Given the description of an element on the screen output the (x, y) to click on. 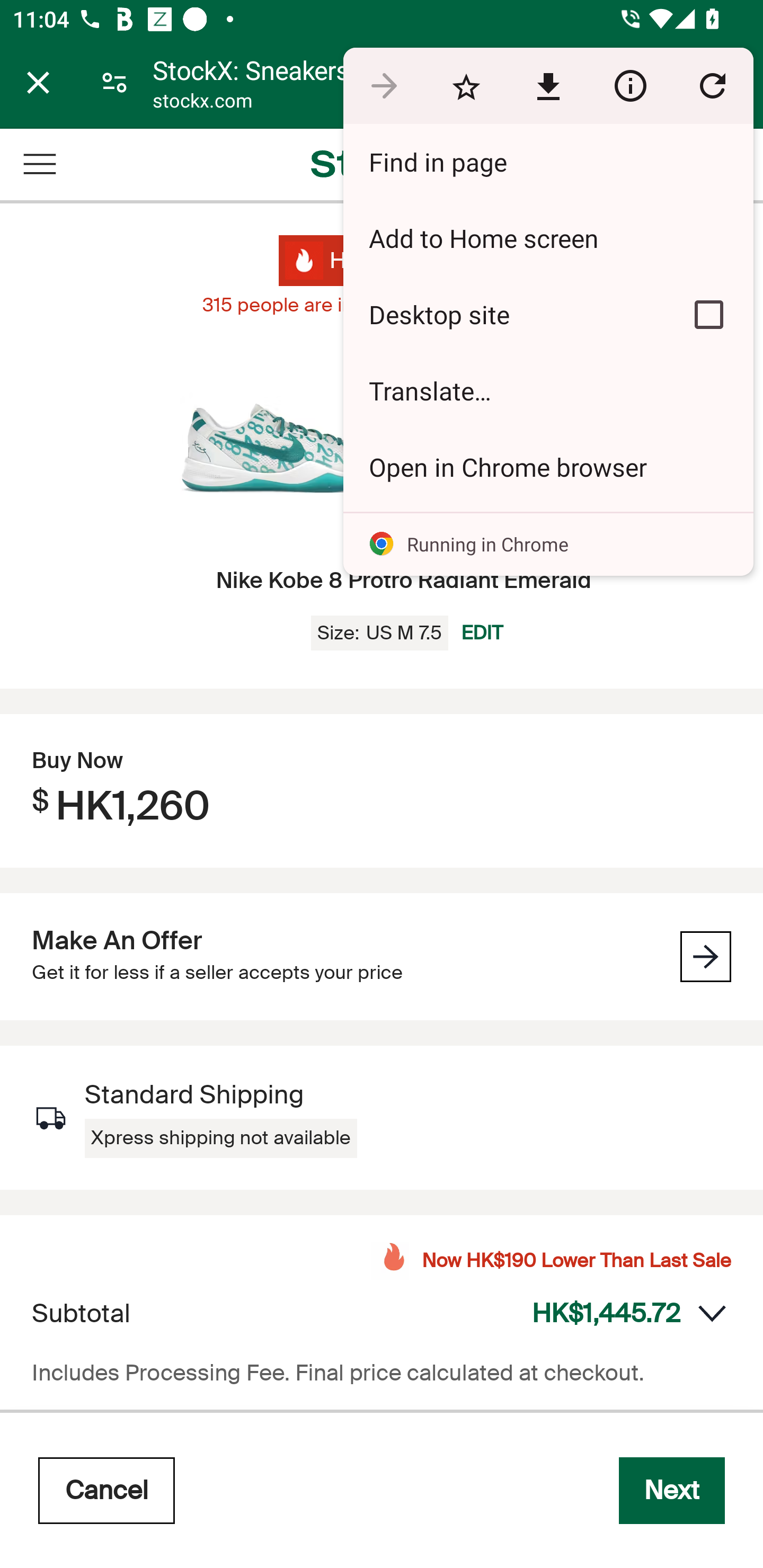
Go forward (383, 85)
Bookmark (465, 85)
Download this page (548, 85)
View site information (630, 85)
Refresh (712, 85)
Find in page (548, 161)
Add to Home screen (548, 237)
Desktop site Turn on Request desktop site (503, 313)
Translate… (548, 390)
Open in Chrome browser (548, 466)
